Given the description of an element on the screen output the (x, y) to click on. 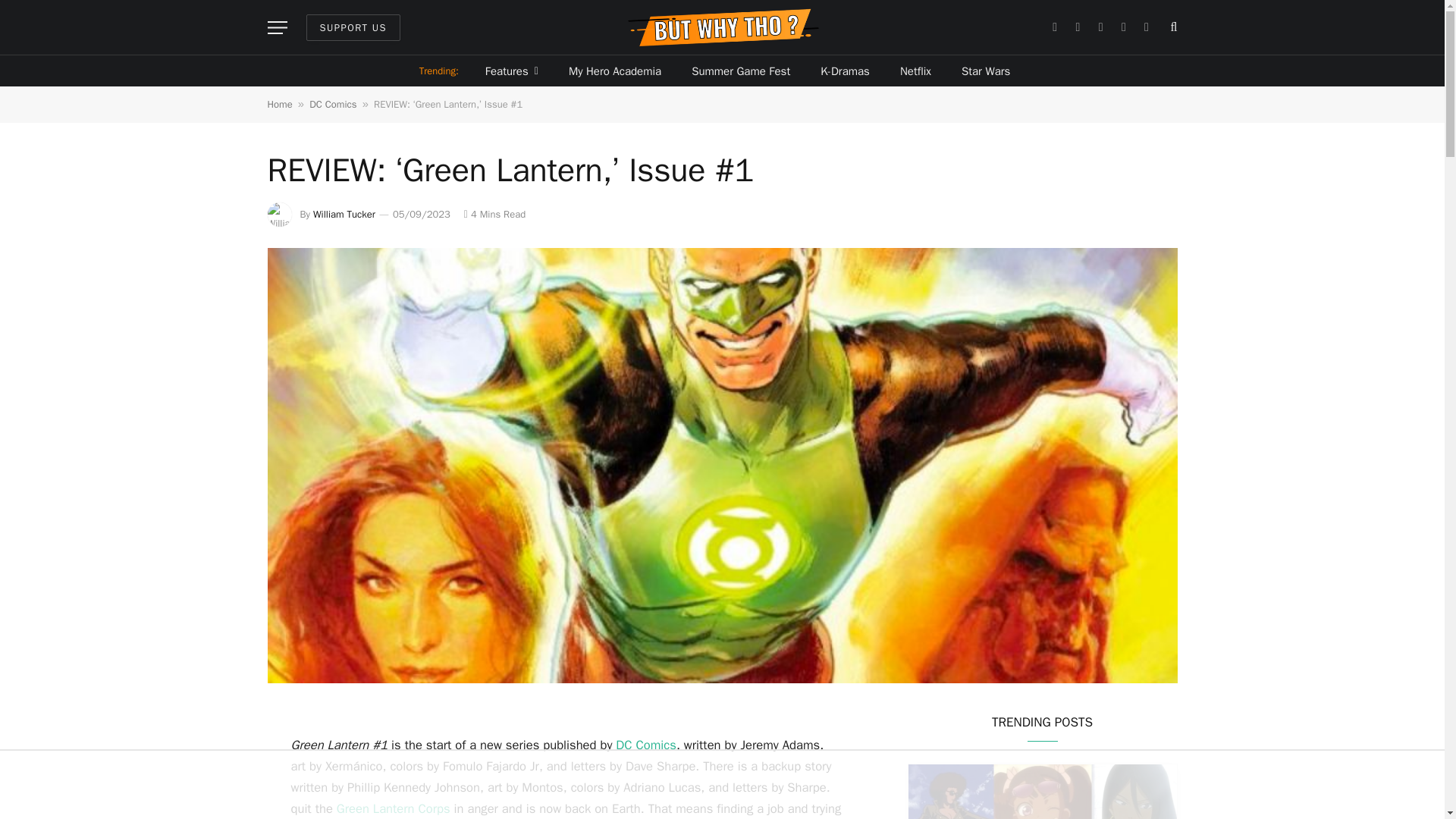
But Why Tho? (722, 27)
